Given the description of an element on the screen output the (x, y) to click on. 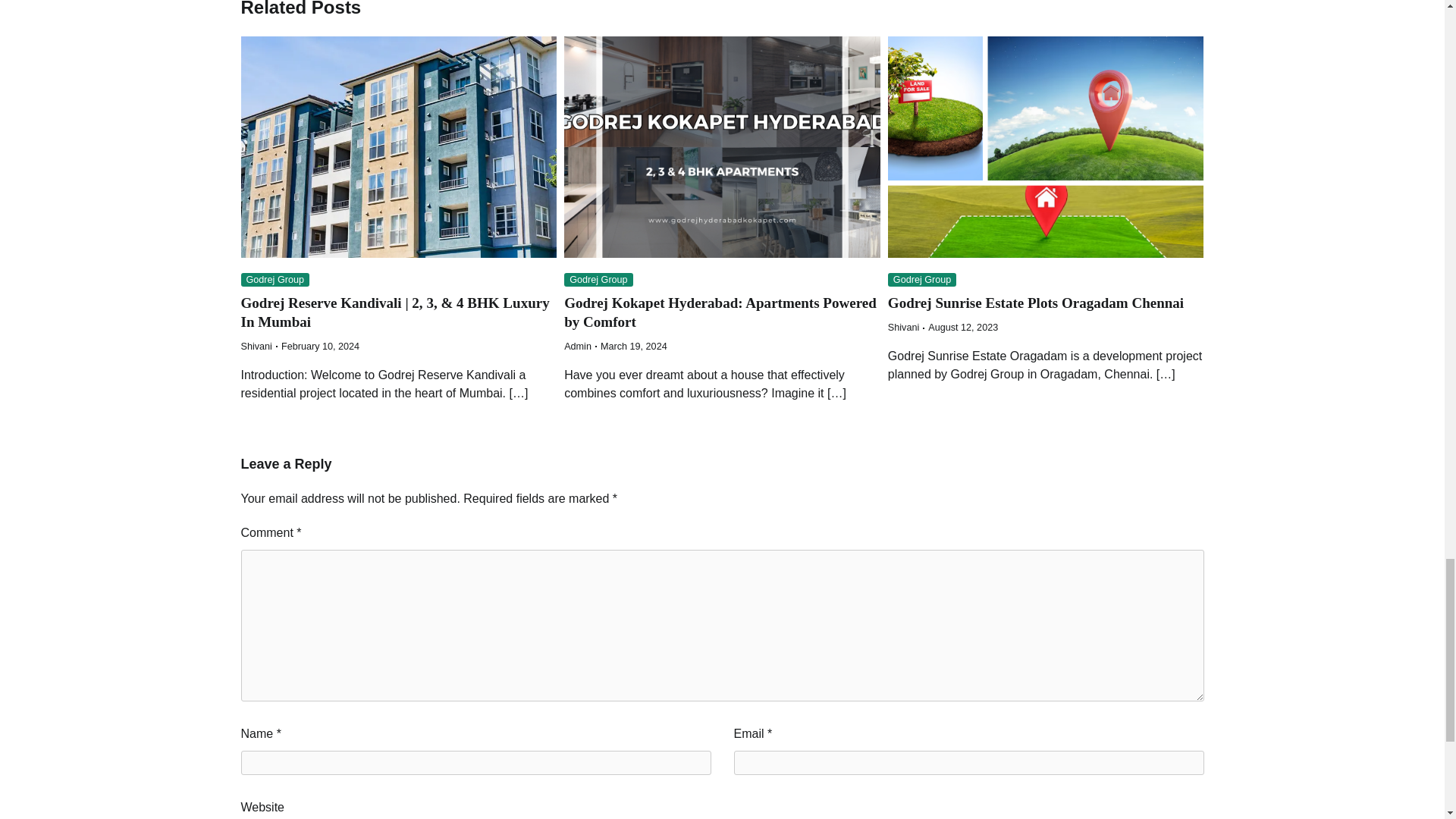
Godrej Kokapet Hyderabad: Apartments Powered by Comfort (720, 312)
Shivani (256, 346)
Godrej Group (598, 279)
Shivani (903, 327)
Godrej Group (275, 279)
Admin (577, 346)
Godrej Group (922, 279)
Godrej Sunrise Estate Plots Oragadam Chennai (1035, 302)
